Given the description of an element on the screen output the (x, y) to click on. 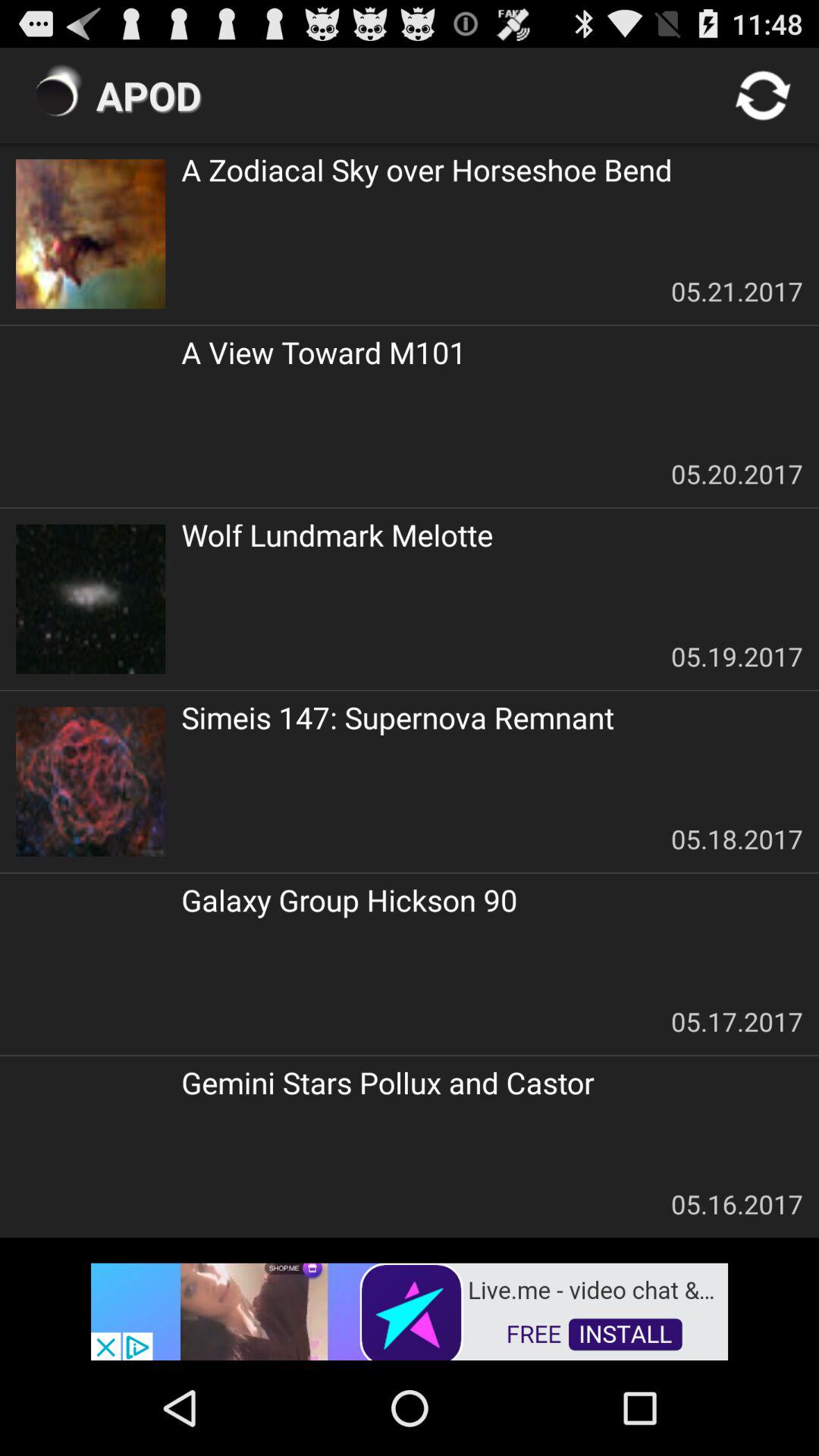
view advertisement (409, 1310)
